Given the description of an element on the screen output the (x, y) to click on. 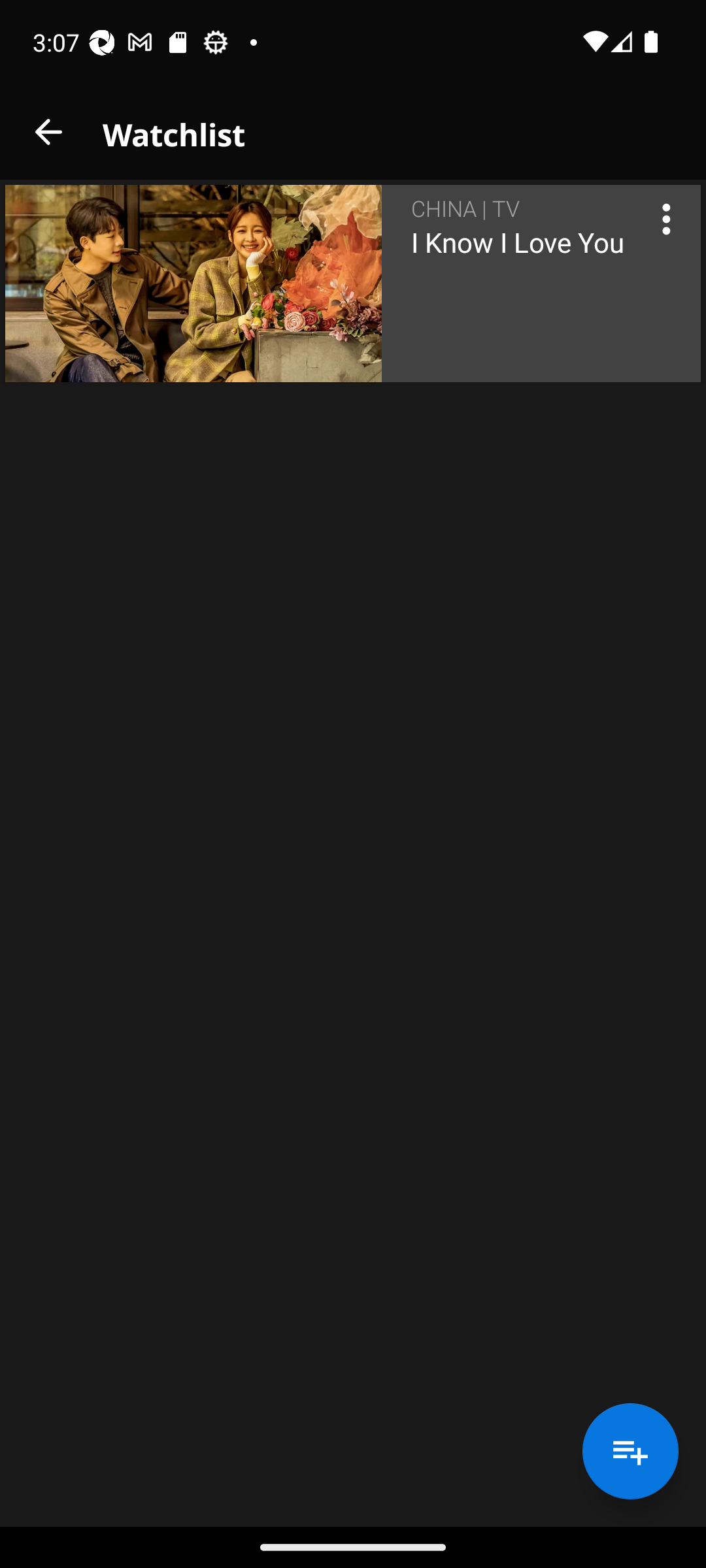
close_button (48, 131)
resource_cell CHINA | TV I Know I Love You (353, 283)
